Given the description of an element on the screen output the (x, y) to click on. 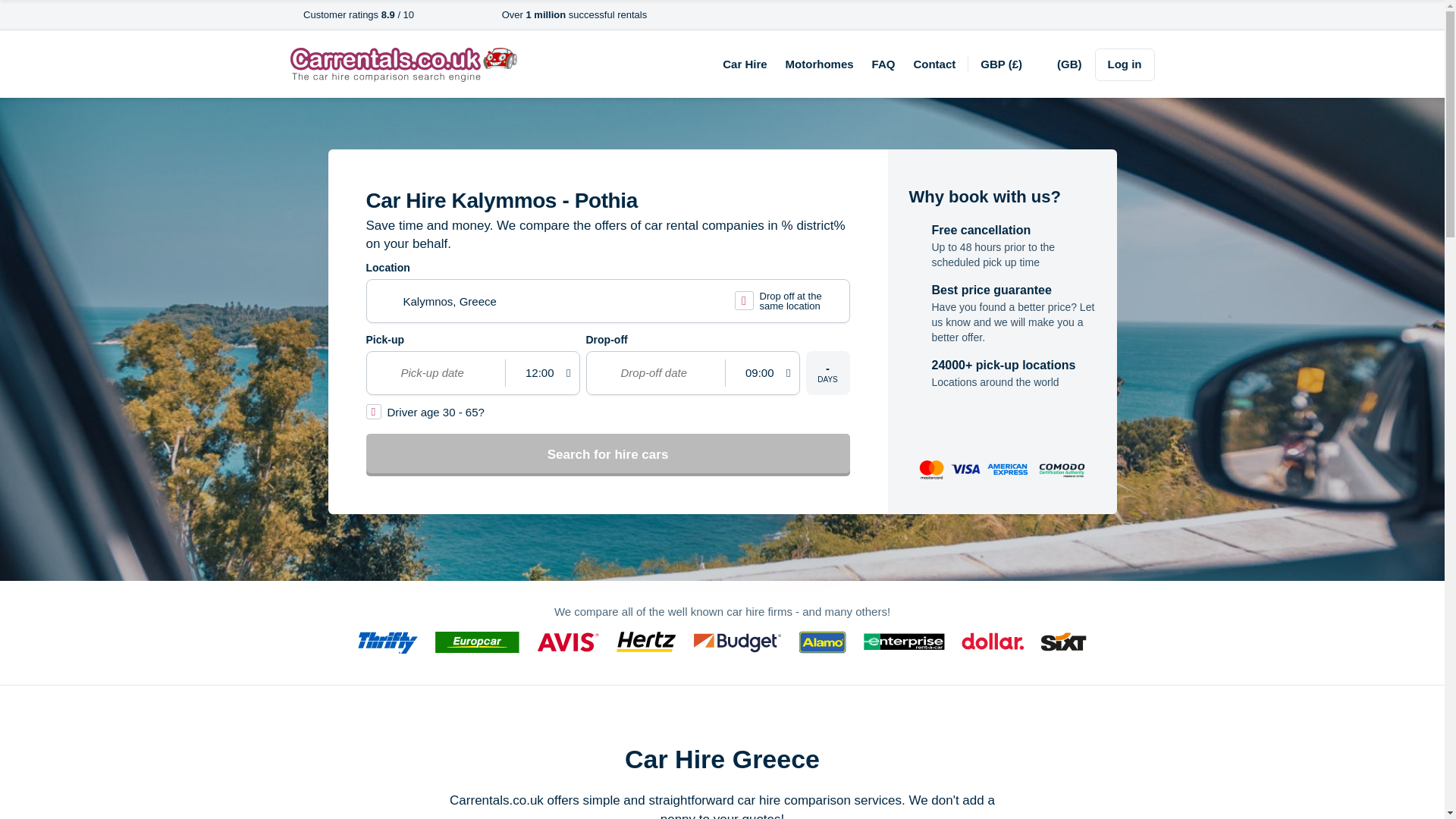
09:00 (759, 372)
Car Hire (744, 63)
FAQ (883, 63)
Motorhomes (819, 63)
Search for hire cars (606, 454)
12:00 (539, 372)
Contact (933, 63)
globe-regular (1047, 65)
